Given the description of an element on the screen output the (x, y) to click on. 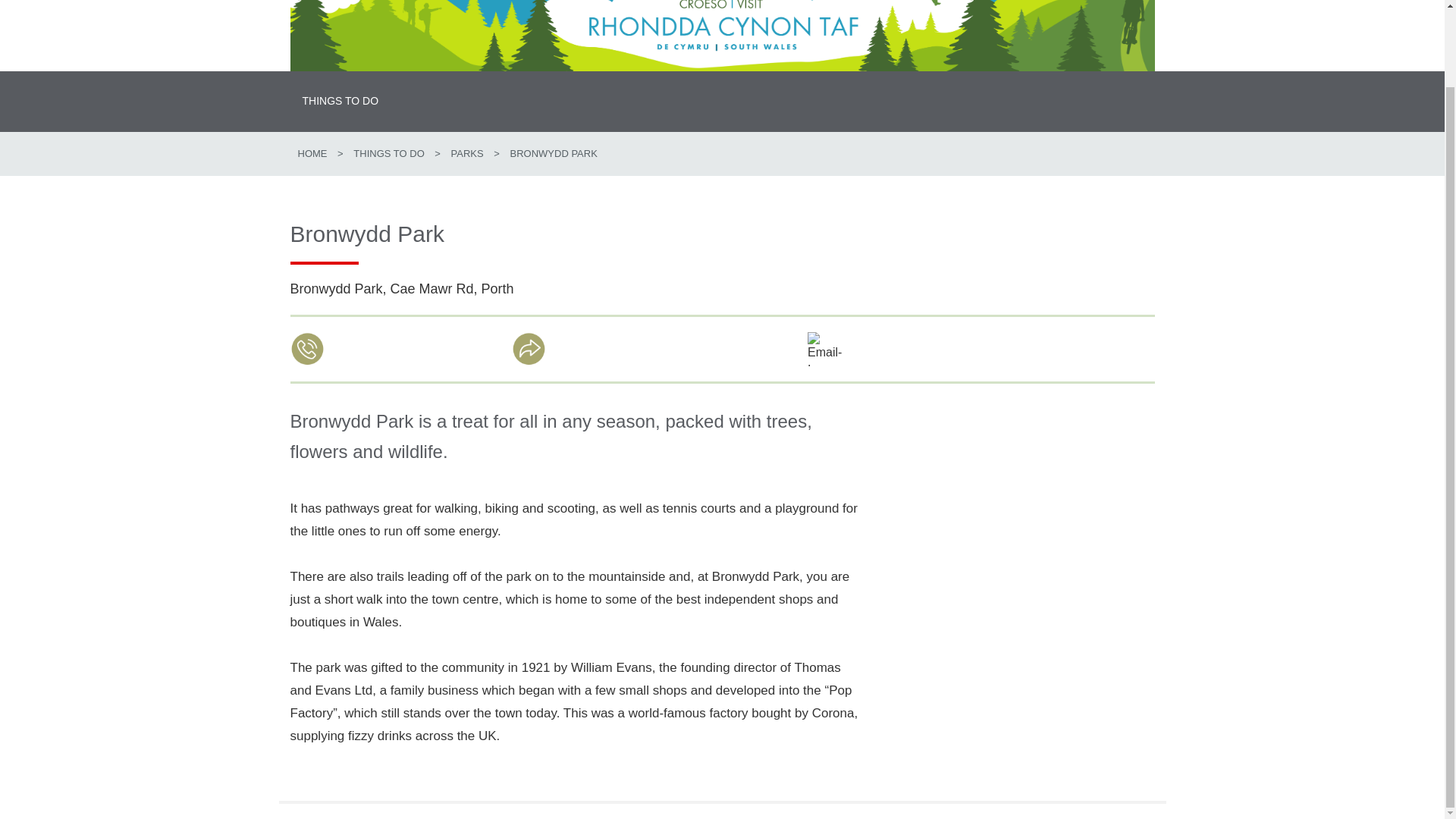
Home (311, 153)
Go to Things to do from here (339, 101)
Things to do (388, 153)
THINGS TO DO (388, 153)
PARKS (467, 153)
Go to Parks from here (467, 153)
HOME (311, 153)
THINGS TO DO (339, 101)
